Given the description of an element on the screen output the (x, y) to click on. 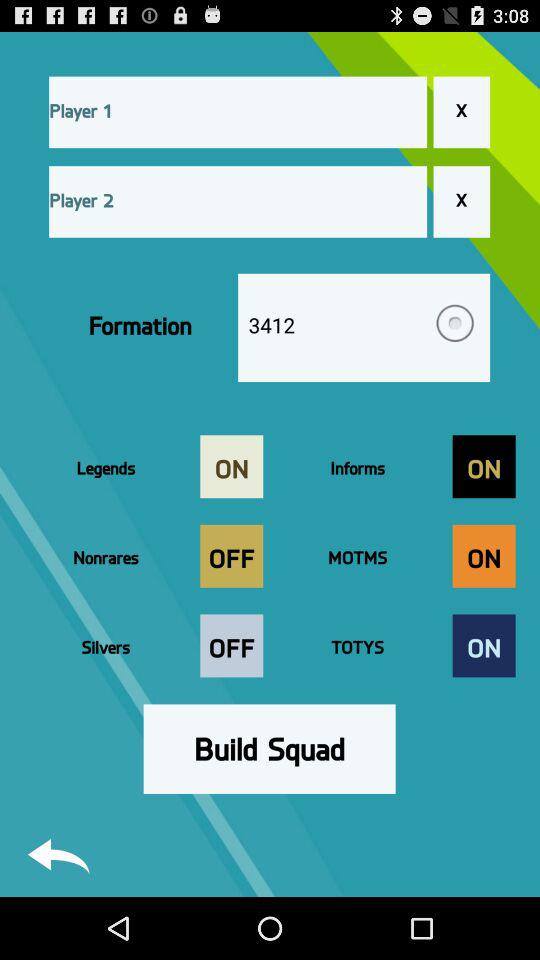
back button (58, 856)
